Given the description of an element on the screen output the (x, y) to click on. 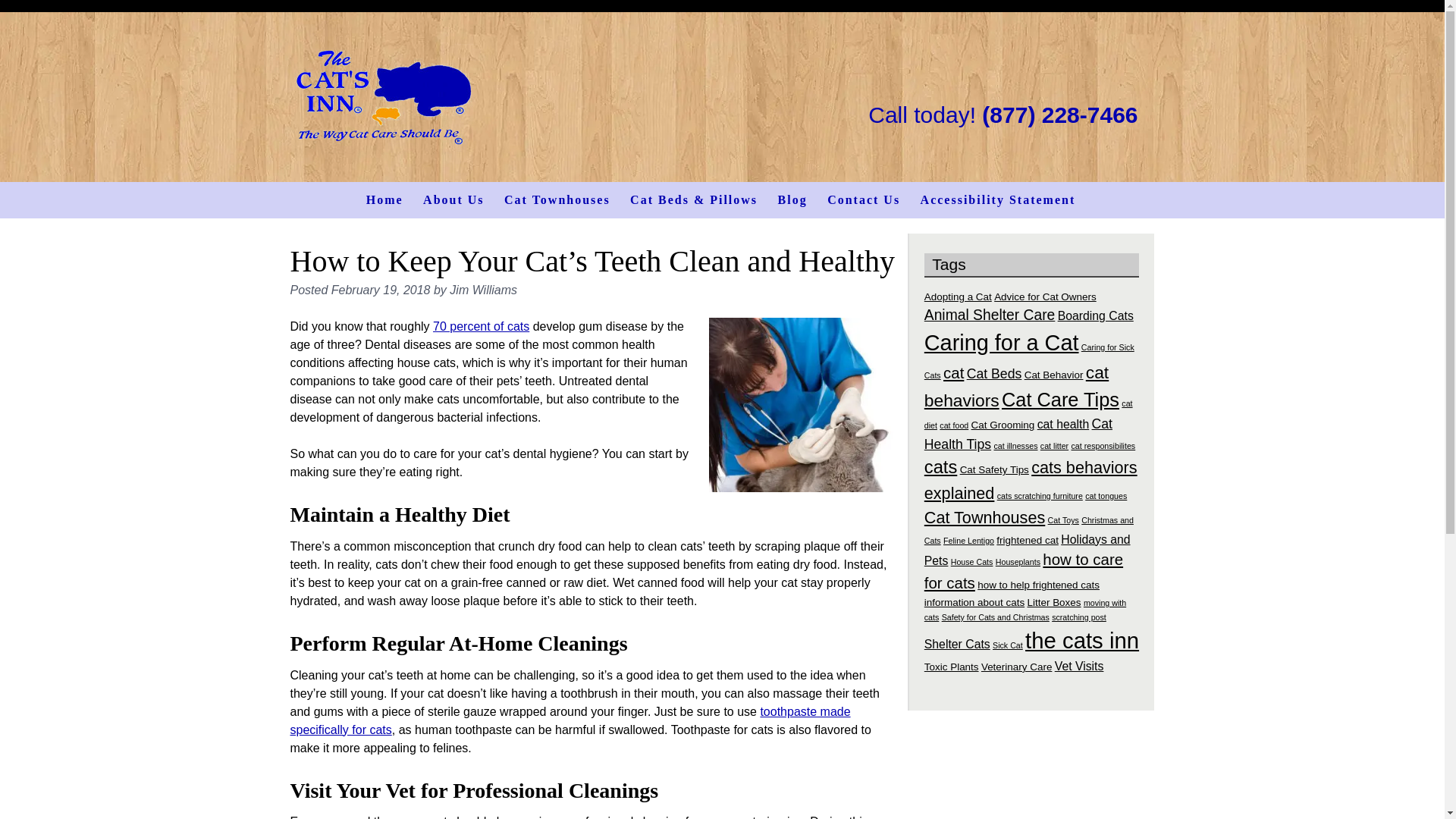
70 percent of cats (480, 326)
Cat Beds (994, 373)
cat (953, 372)
cat behaviors (1016, 386)
Cat Behavior (1054, 374)
Boarding Cats (1096, 315)
cat diet (1028, 413)
toothpaste made specifically for cats (569, 720)
Cat Care Tips (1060, 399)
Blog (792, 199)
Accessibility Statement (997, 199)
Contact Us (863, 199)
Animal Shelter Care (989, 314)
Cat Townhouses (557, 199)
About Us (453, 199)
